Given the description of an element on the screen output the (x, y) to click on. 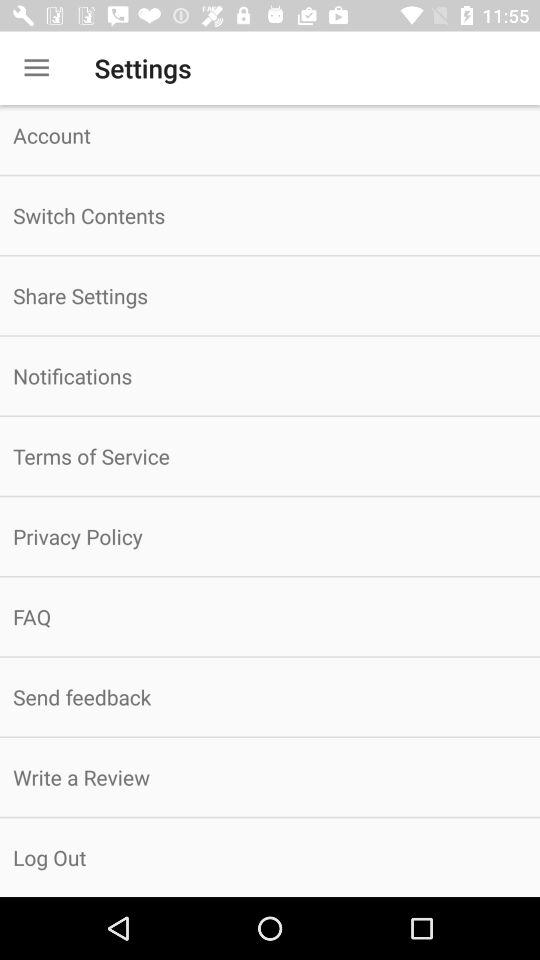
turn off write a review (270, 777)
